Given the description of an element on the screen output the (x, y) to click on. 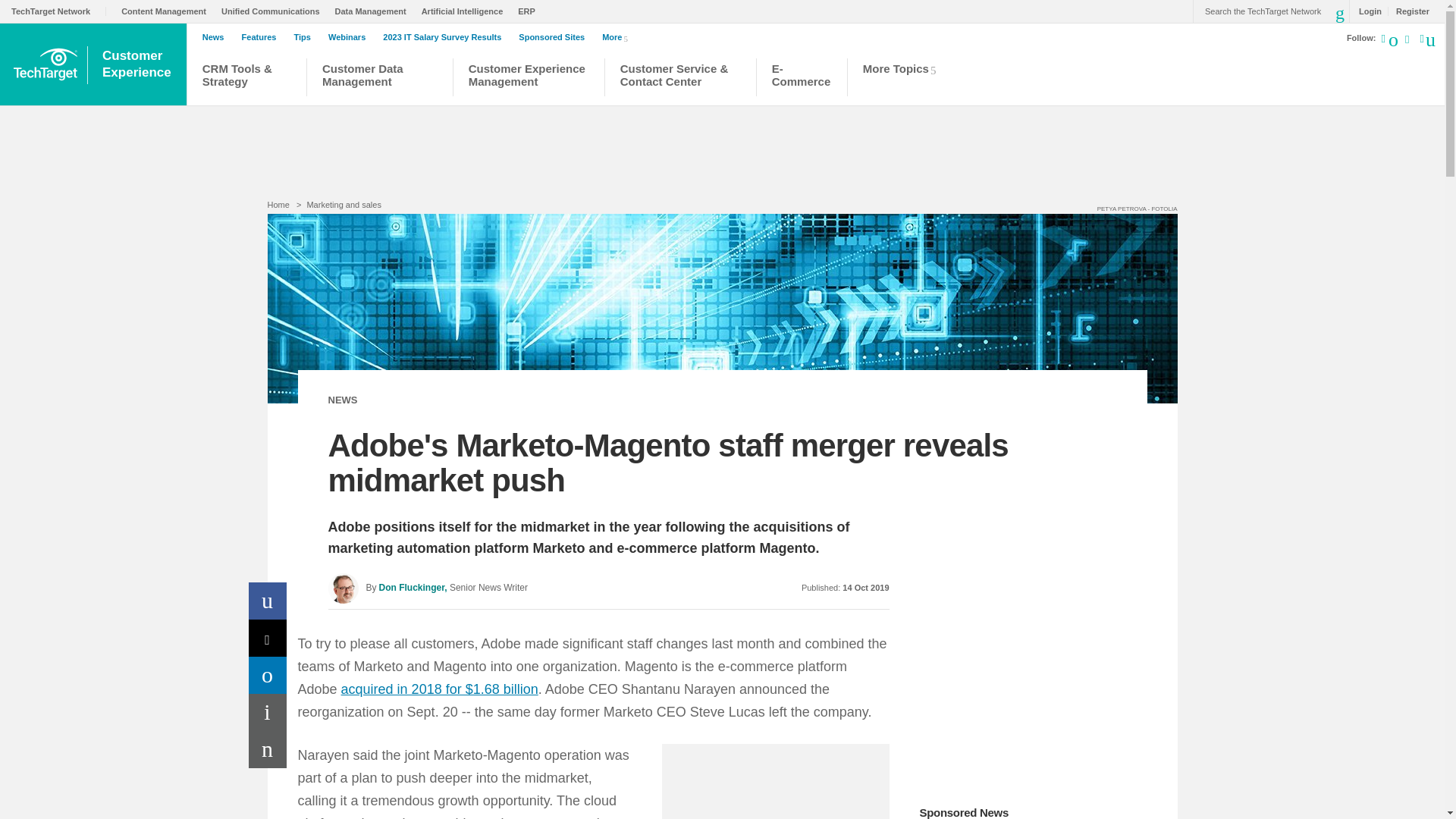
Unified Communications (274, 10)
TechTarget Network (58, 10)
Share on Facebook (267, 600)
2023 IT Salary Survey Results (445, 36)
Share on X (267, 637)
Register (1408, 10)
Data Management (138, 64)
ERP (373, 10)
E-Commerce (530, 10)
